Given the description of an element on the screen output the (x, y) to click on. 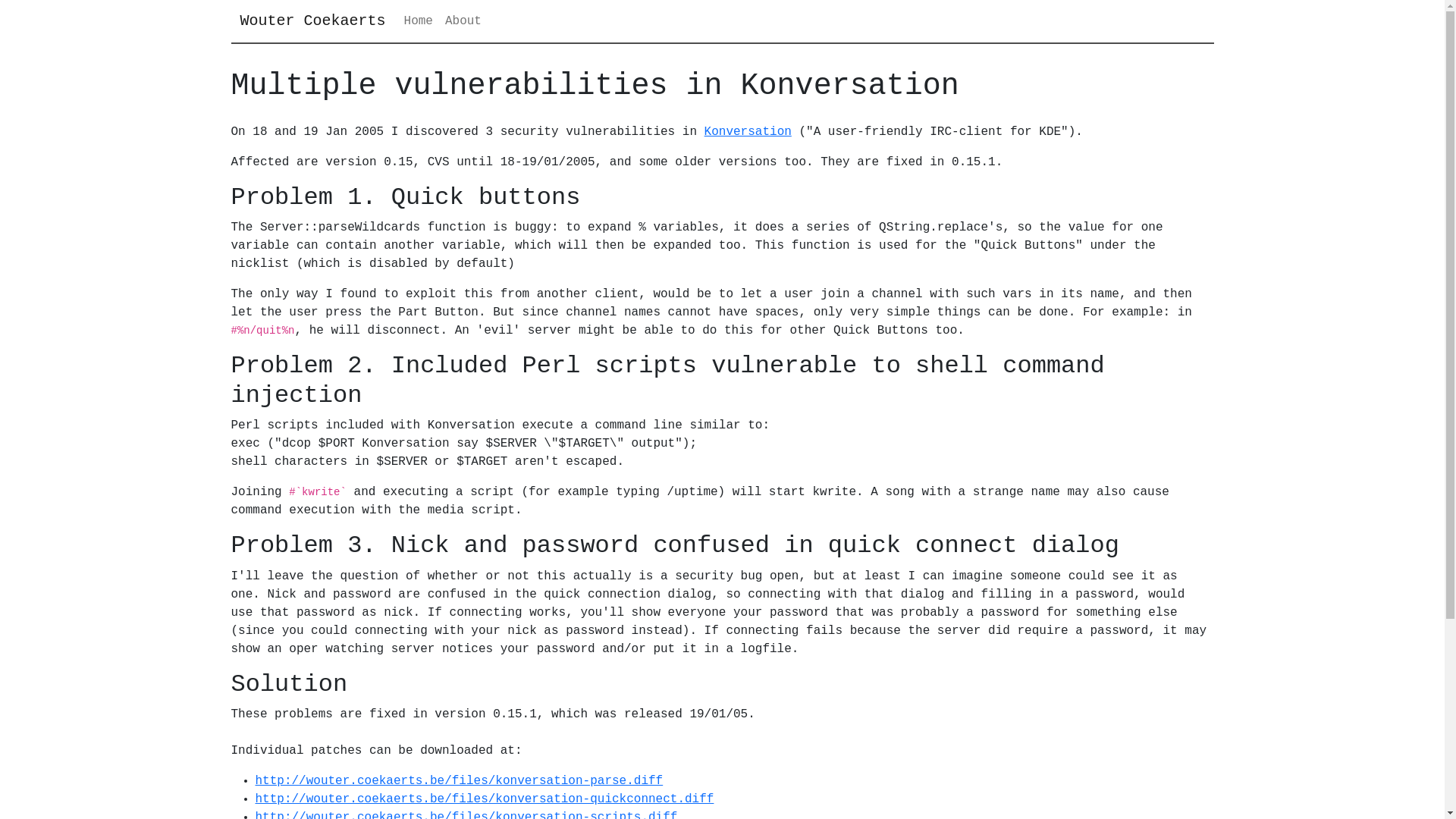
http://wouter.coekaerts.be/files/konversation-parse.diff Element type: text (458, 780)
Home Element type: text (418, 21)
Konversation Element type: text (747, 131)
Wouter Coekaerts Element type: text (312, 20)
About Element type: text (463, 21)
